Given the description of an element on the screen output the (x, y) to click on. 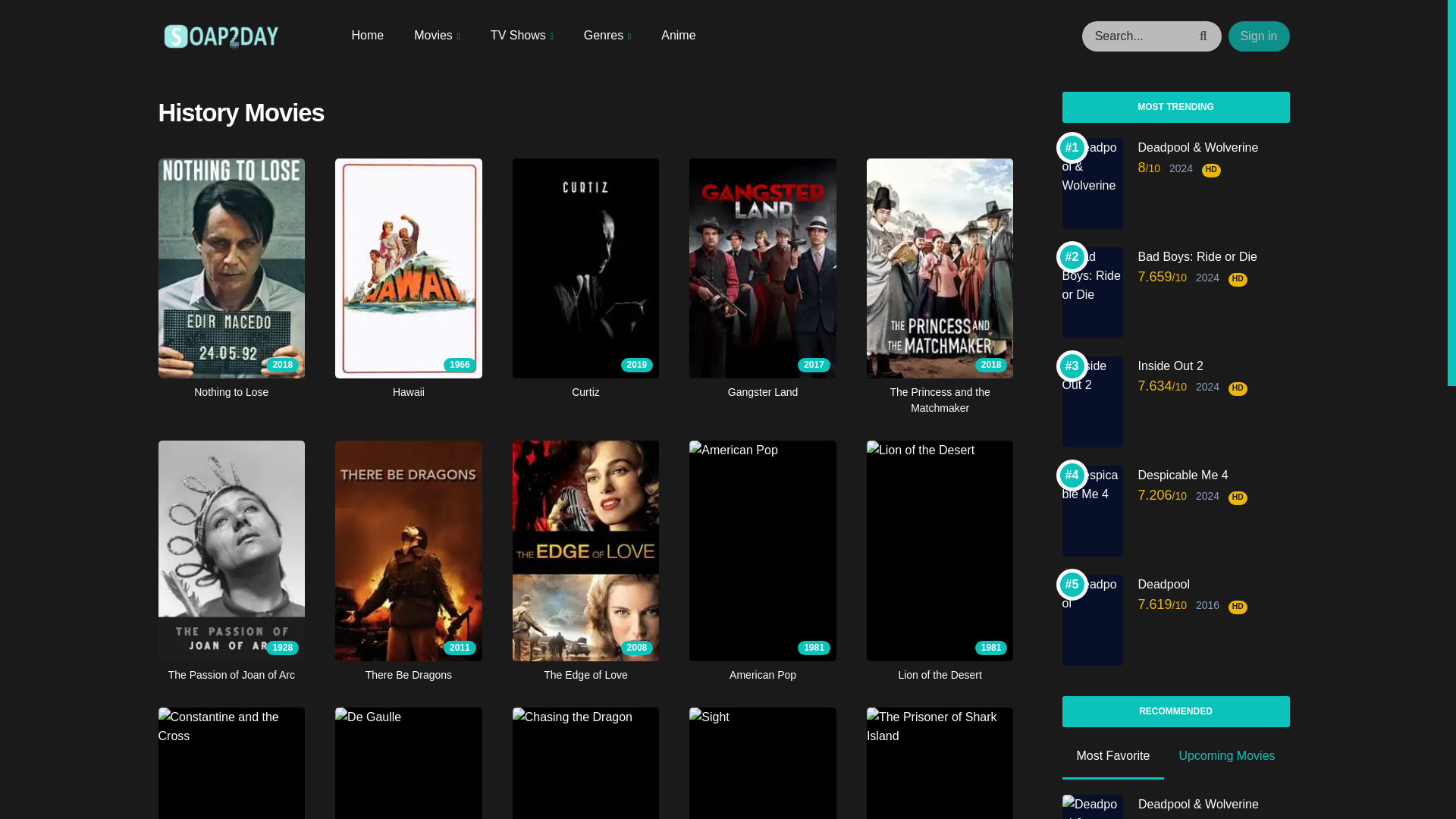
Genres (606, 35)
TV Shows (521, 35)
Anime (678, 34)
Home (368, 34)
Movies (436, 35)
Sign in (1259, 36)
